Given the description of an element on the screen output the (x, y) to click on. 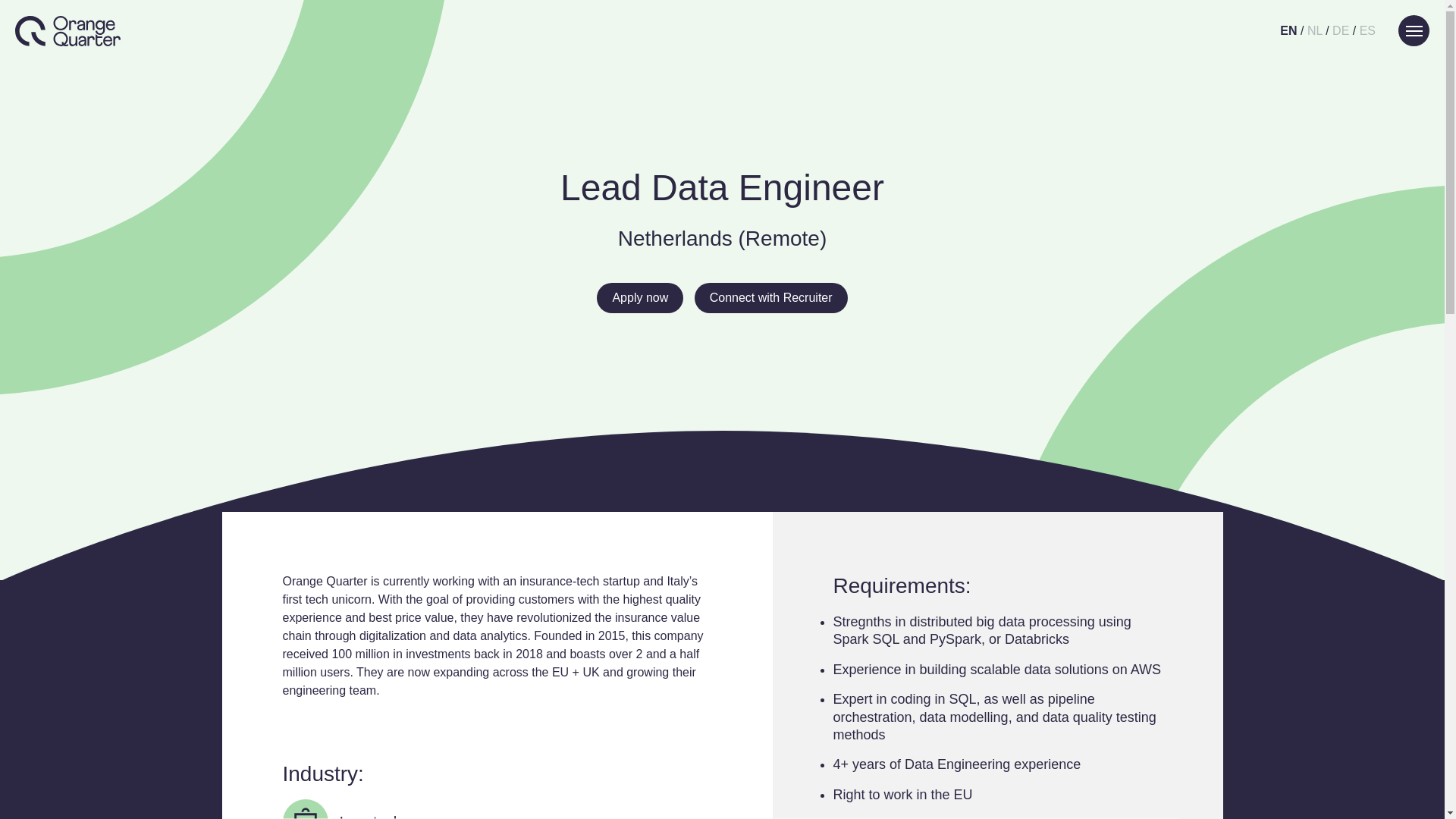
DE (1340, 30)
ES (1367, 30)
Apply now (639, 297)
Connect with Recruiter (770, 297)
EN (1288, 30)
NL (1314, 30)
